Given the description of an element on the screen output the (x, y) to click on. 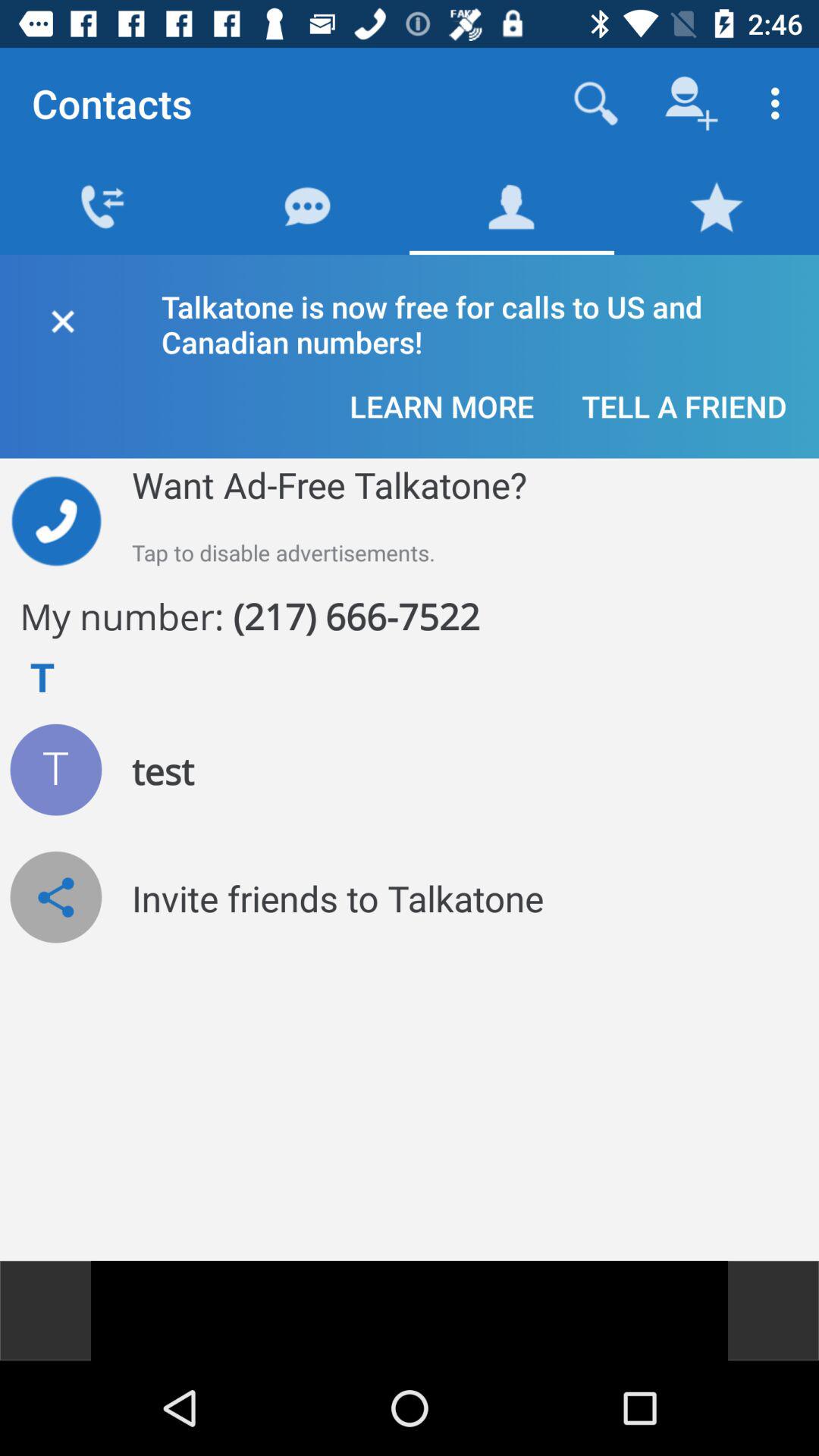
search contact details (595, 103)
